Given the description of an element on the screen output the (x, y) to click on. 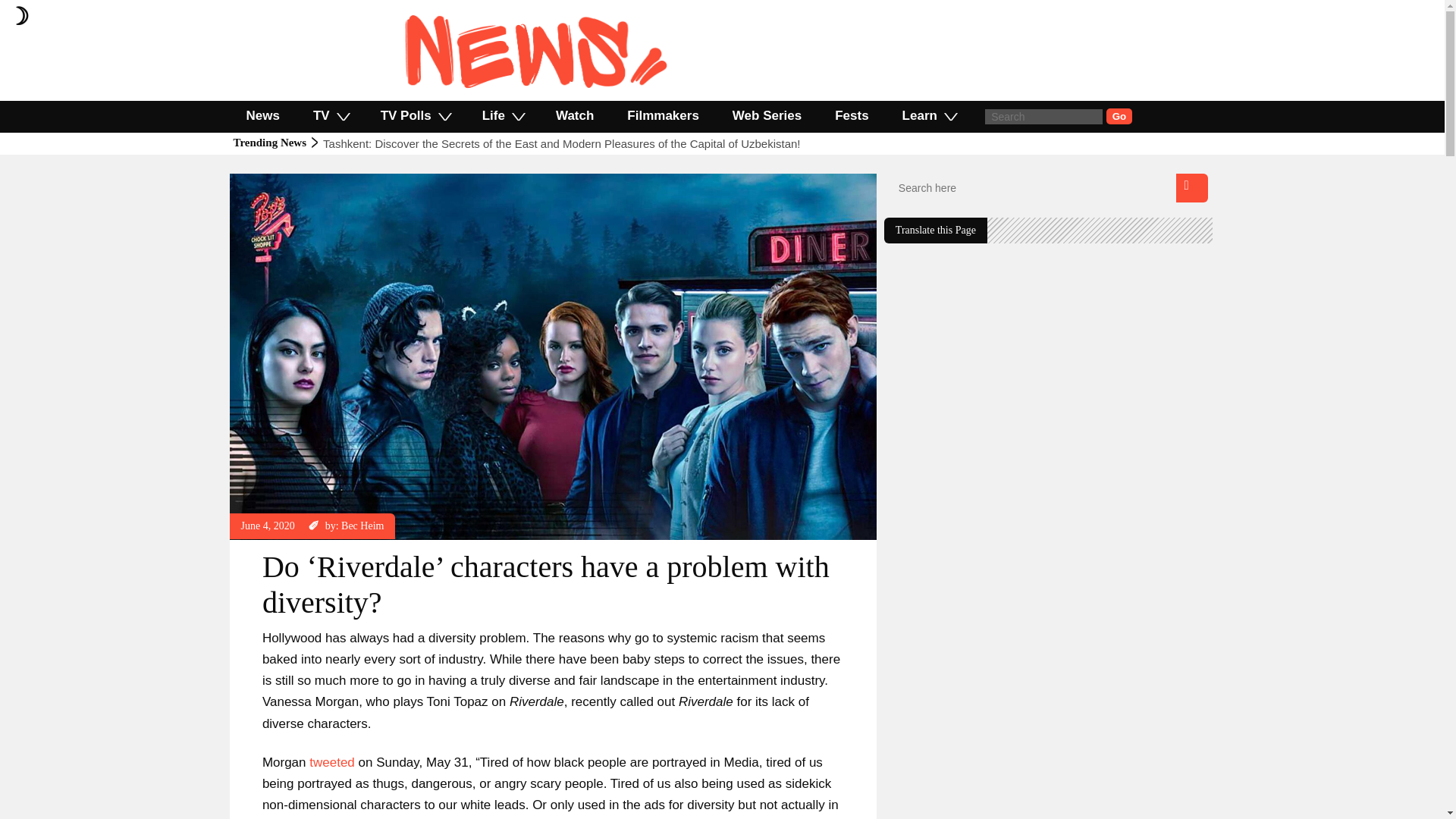
Web Series (767, 115)
Lifestyle (319, 180)
Go (1119, 116)
News (261, 115)
Archieverse (267, 180)
Learn (928, 115)
Go (1119, 116)
Watch (574, 115)
TV Polls (414, 115)
